Given the description of an element on the screen output the (x, y) to click on. 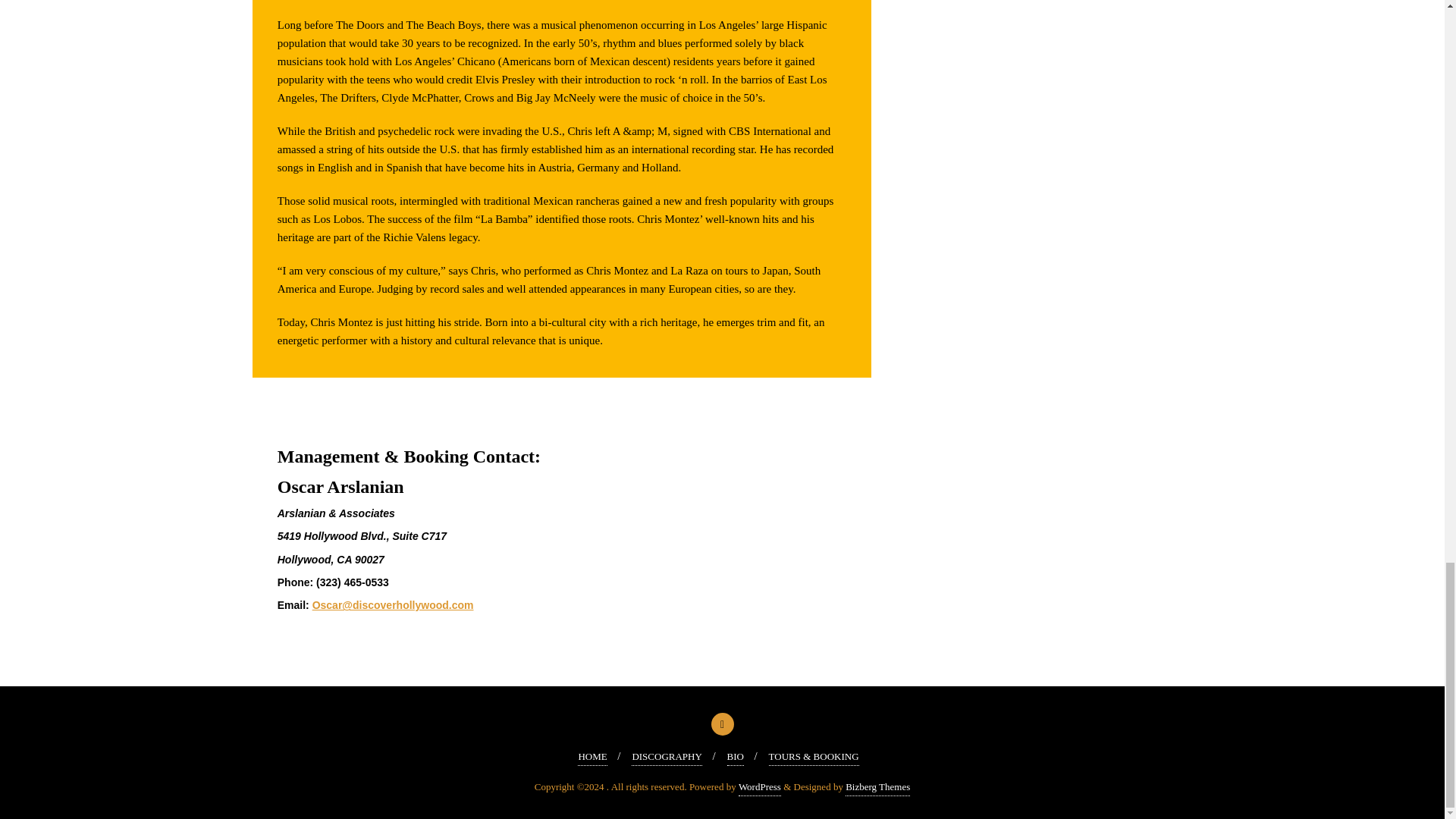
DISCOGRAPHY (666, 756)
BIO (735, 756)
HOME (592, 756)
